Given the description of an element on the screen output the (x, y) to click on. 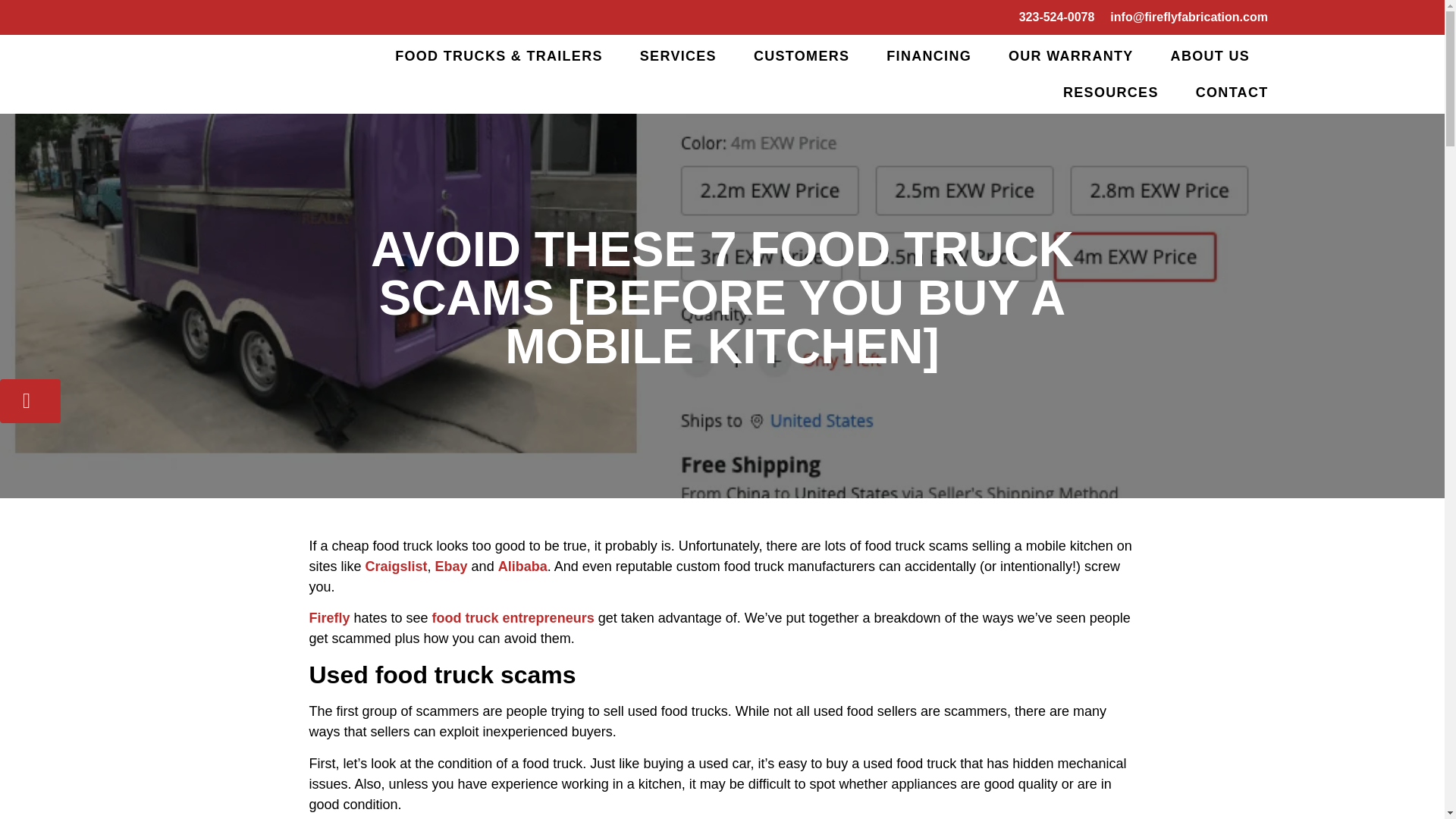
OUR WARRANTY (1071, 55)
SERVICES (678, 55)
FINANCING (928, 55)
RESOURCES (1110, 92)
CUSTOMERS (801, 55)
ABOUT US (1209, 55)
CONTACT (1231, 92)
